Given the description of an element on the screen output the (x, y) to click on. 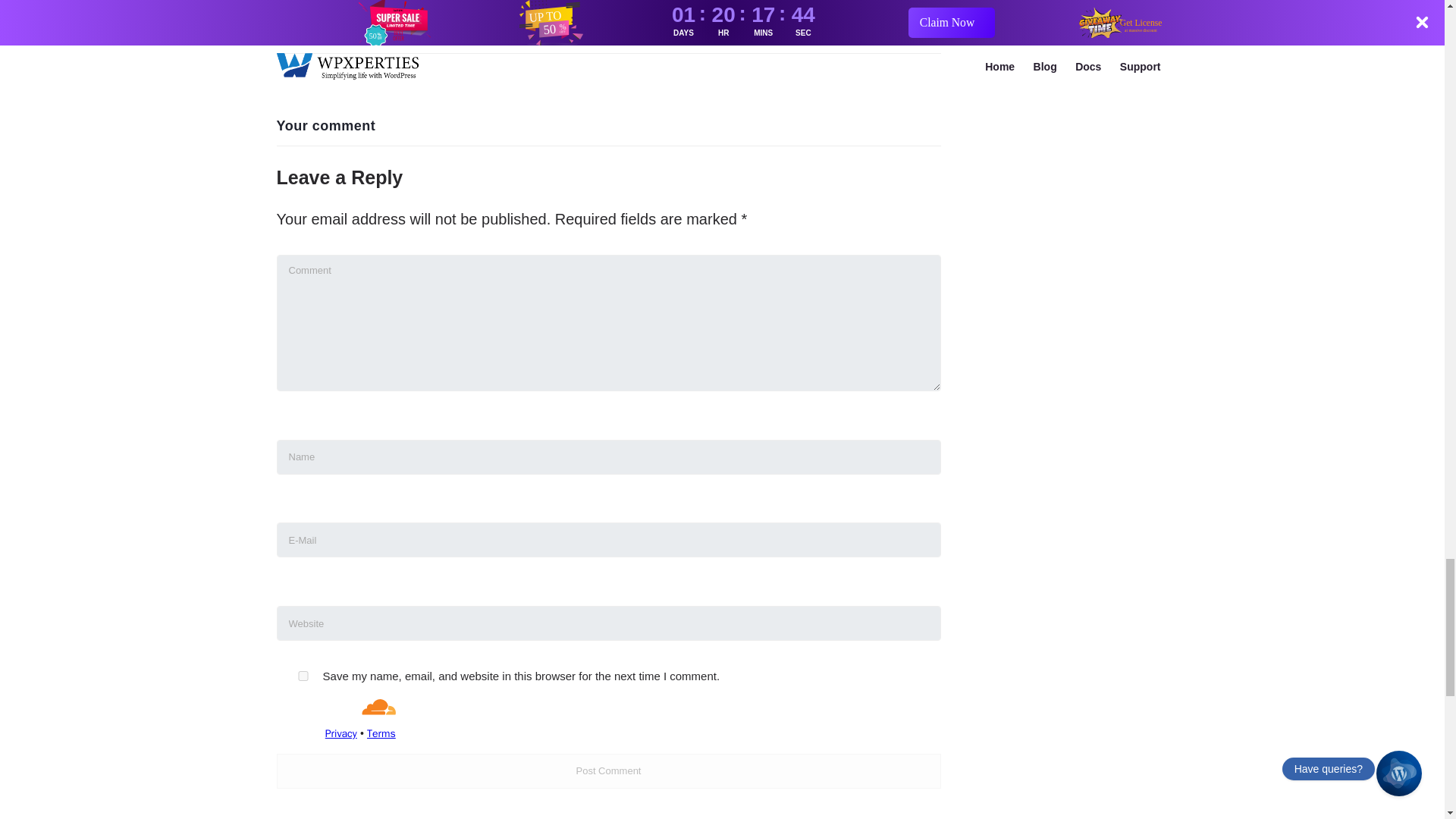
yes (302, 675)
Post Comment (608, 770)
Post Comment (608, 770)
